Given the description of an element on the screen output the (x, y) to click on. 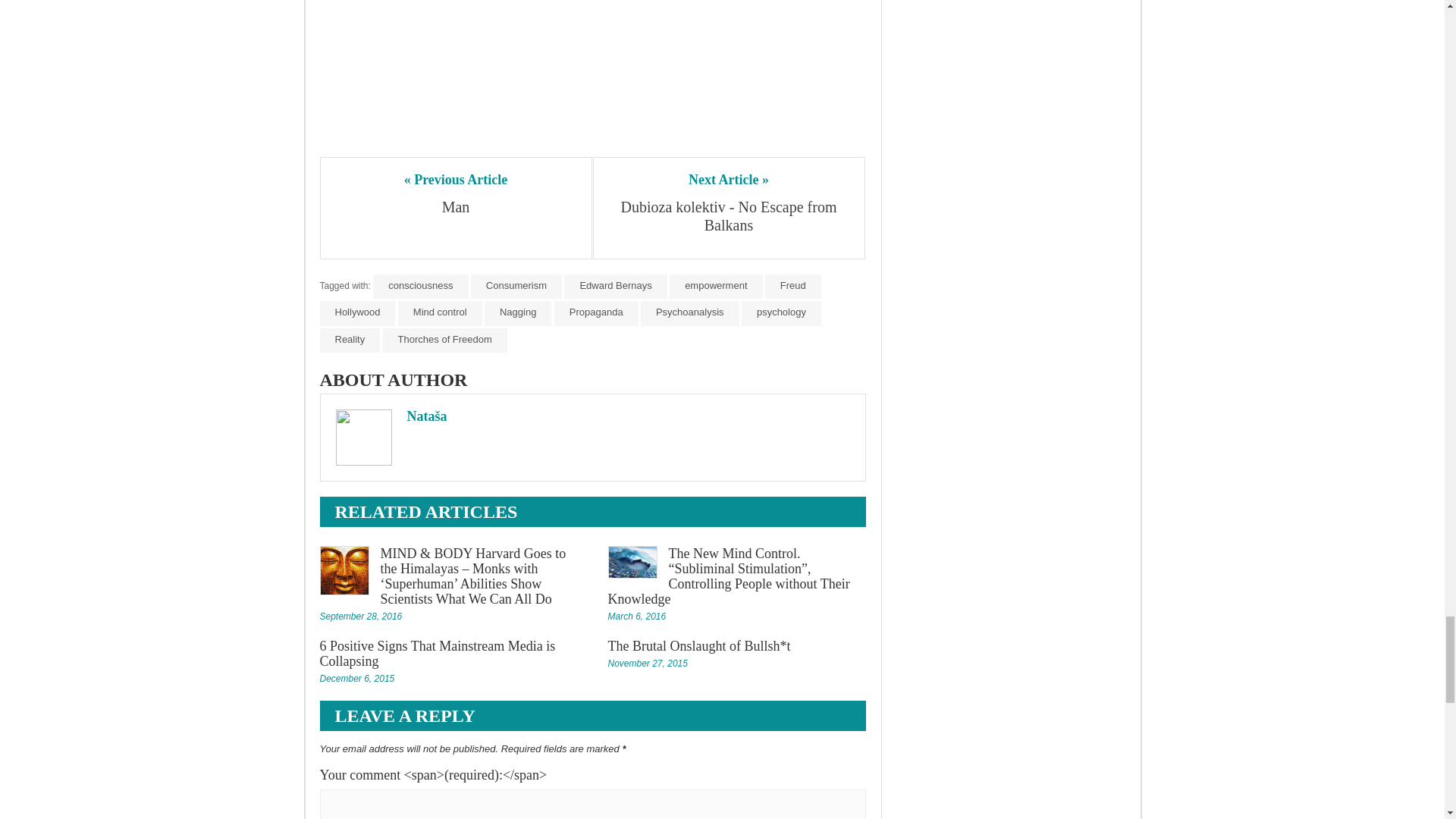
Dubioza kolektiv - No Escape from Balkans (728, 216)
Edward Bernays (615, 286)
Man (454, 207)
Consumerism (516, 286)
consciousness (419, 286)
